Given the description of an element on the screen output the (x, y) to click on. 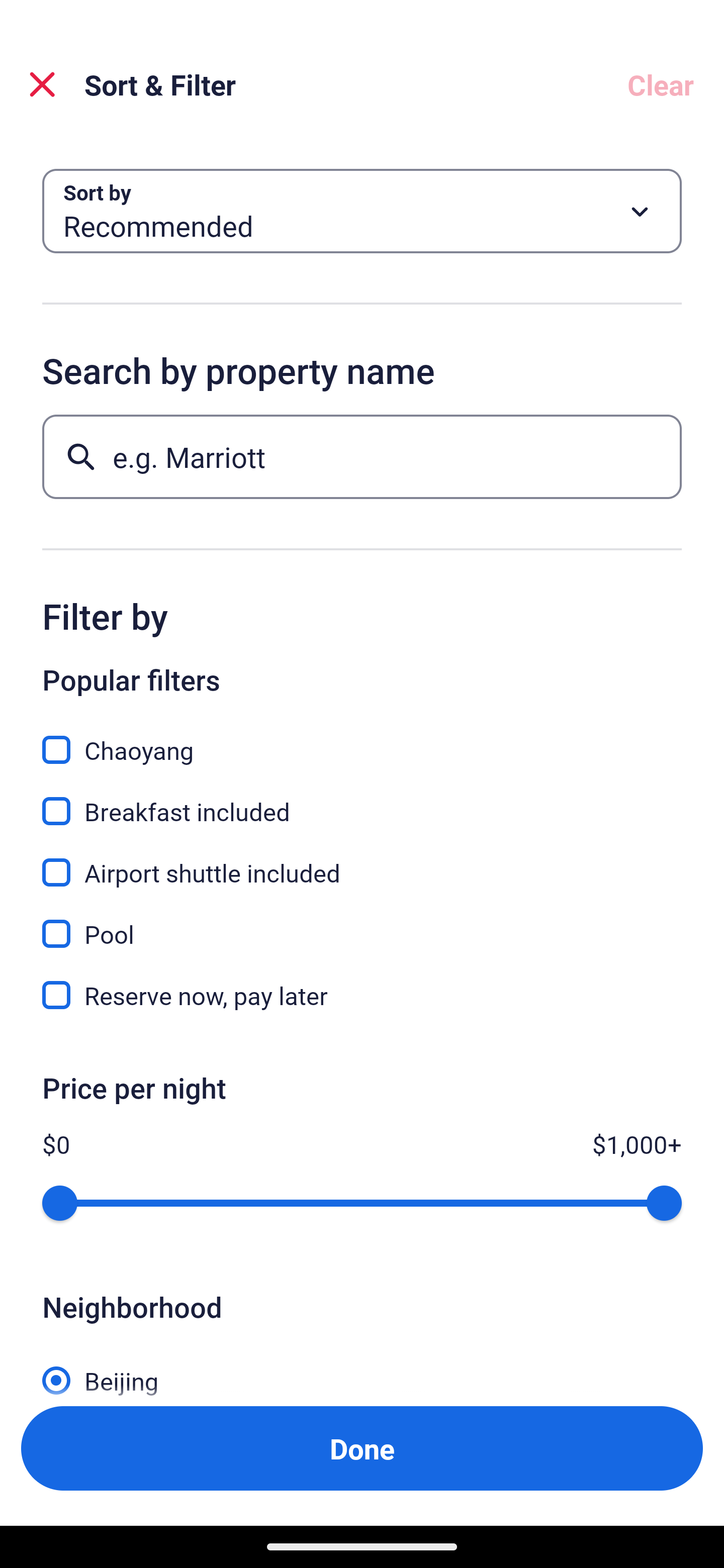
Close Sort and Filter (42, 84)
Clear (660, 84)
Sort by Button Recommended (361, 211)
e.g. Marriott Button (361, 455)
Chaoyang, Chaoyang (361, 738)
Breakfast included, Breakfast included (361, 800)
Airport shuttle included, Airport shuttle included (361, 861)
Pool, Pool (361, 922)
Reserve now, pay later, Reserve now, pay later (361, 995)
Apply and close Sort and Filter Done (361, 1448)
